Given the description of an element on the screen output the (x, y) to click on. 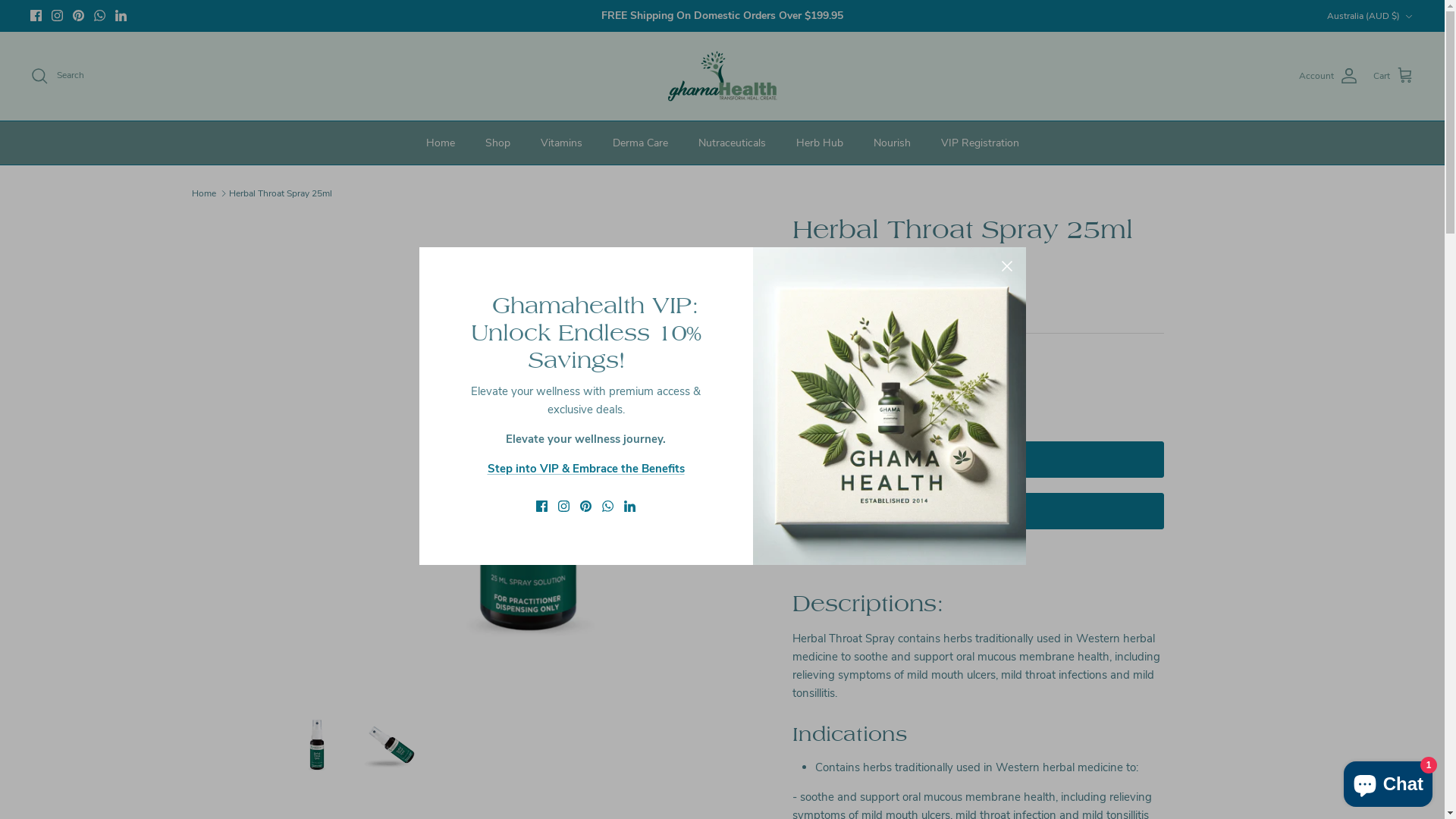
Nutraceuticals Element type: text (731, 142)
Ghama Health Element type: hover (721, 76)
Facebook Element type: text (35, 15)
Plus Element type: text (897, 392)
Instagram Element type: text (56, 15)
Derma Care Element type: text (640, 142)
Herbal Throat Spray 25ml Element type: text (280, 193)
Shop Element type: text (497, 142)
Cart Element type: text (1393, 75)
Search Element type: text (57, 75)
Australia (AUD $)
Down Element type: text (1370, 15)
Shopify online store chat Element type: hover (1388, 780)
Nourish Element type: text (891, 142)
RIGHT Element type: text (741, 453)
Minus Element type: text (809, 392)
VIP Registration Element type: text (979, 142)
ADD TO CART Element type: text (977, 459)
Account Element type: text (1328, 75)
BUY IT NOW Element type: text (977, 510)
Herb Hub Element type: text (819, 142)
Vitamins Element type: text (560, 142)
Step into VIP & Embrace the Benefits Element type: text (585, 468)
Home Element type: text (440, 142)
Home Element type: text (203, 193)
Mediherb Element type: text (832, 268)
Pinterest Element type: text (78, 15)
